Given the description of an element on the screen output the (x, y) to click on. 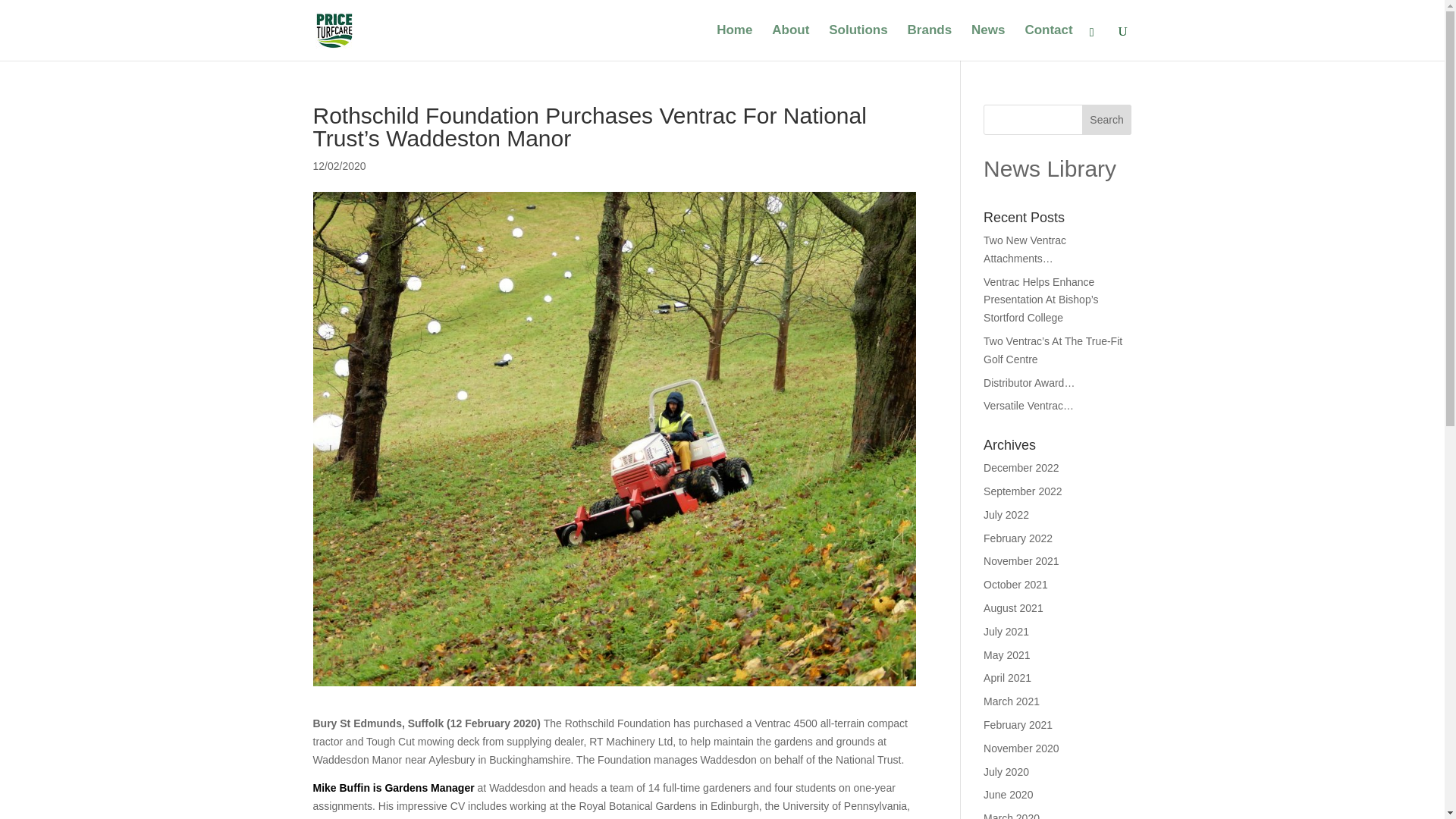
Search (1106, 119)
February 2022 (1018, 538)
April 2021 (1007, 677)
July 2022 (1006, 514)
August 2021 (1013, 607)
News (987, 42)
July 2020 (1006, 771)
March 2021 (1011, 701)
Solutions (857, 42)
About (790, 42)
September 2022 (1023, 491)
News Library (1050, 168)
Contact (1048, 42)
June 2020 (1008, 794)
November 2020 (1021, 748)
